Given the description of an element on the screen output the (x, y) to click on. 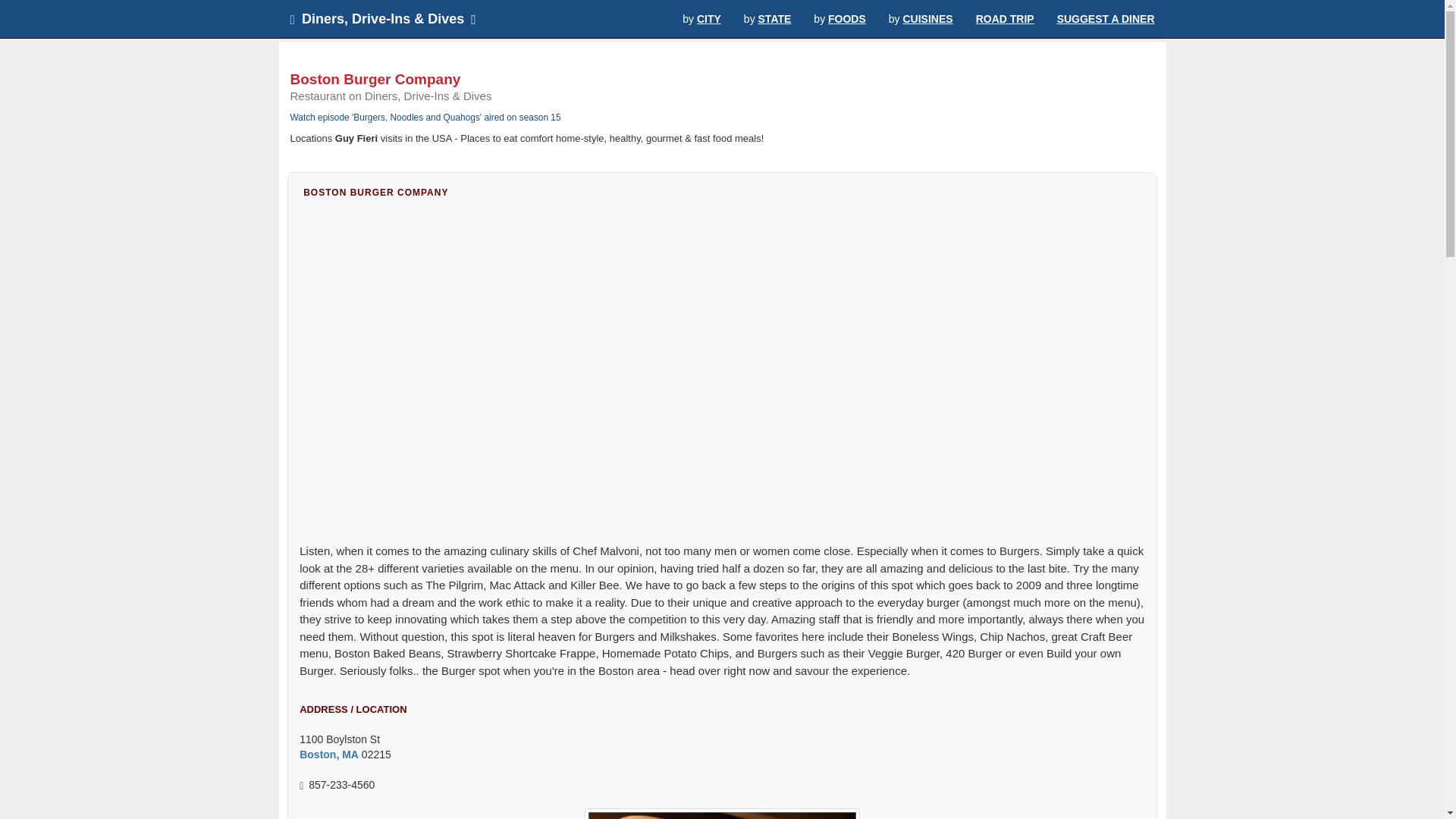
ROAD TRIP (1004, 18)
by STATE (767, 18)
SUGGEST A DINER (1105, 18)
by FOODS (839, 18)
by CUISINES (920, 18)
Boston, MA (328, 754)
by CITY (701, 18)
